Given the description of an element on the screen output the (x, y) to click on. 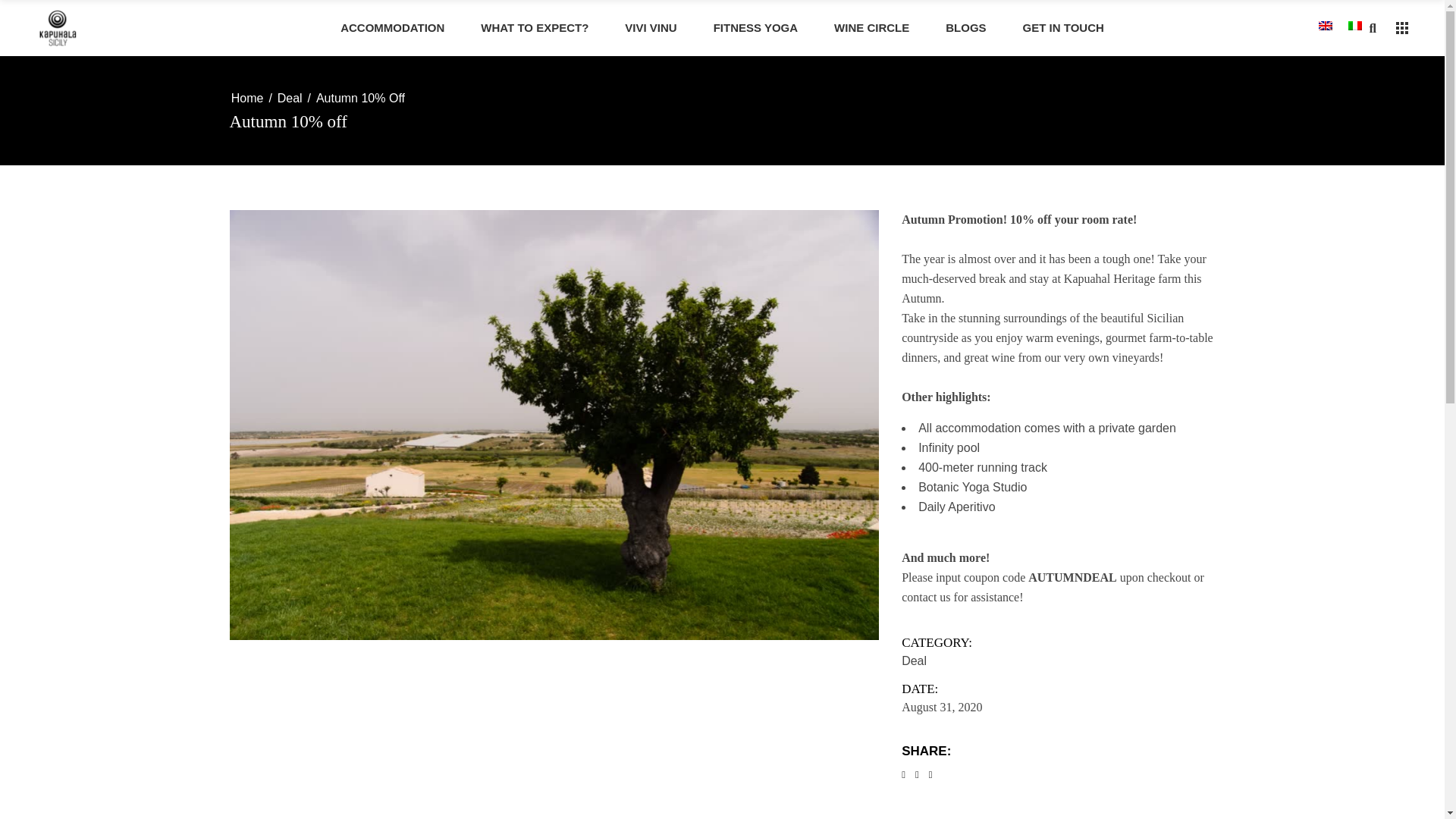
BLOGS (965, 28)
Deal (290, 98)
FITNESS YOGA (755, 28)
VIVI VINU (650, 28)
Home (247, 98)
GET IN TOUCH (1063, 28)
ACCOMMODATION (392, 28)
WHAT TO EXPECT? (535, 28)
WINE CIRCLE (871, 28)
